Given the description of an element on the screen output the (x, y) to click on. 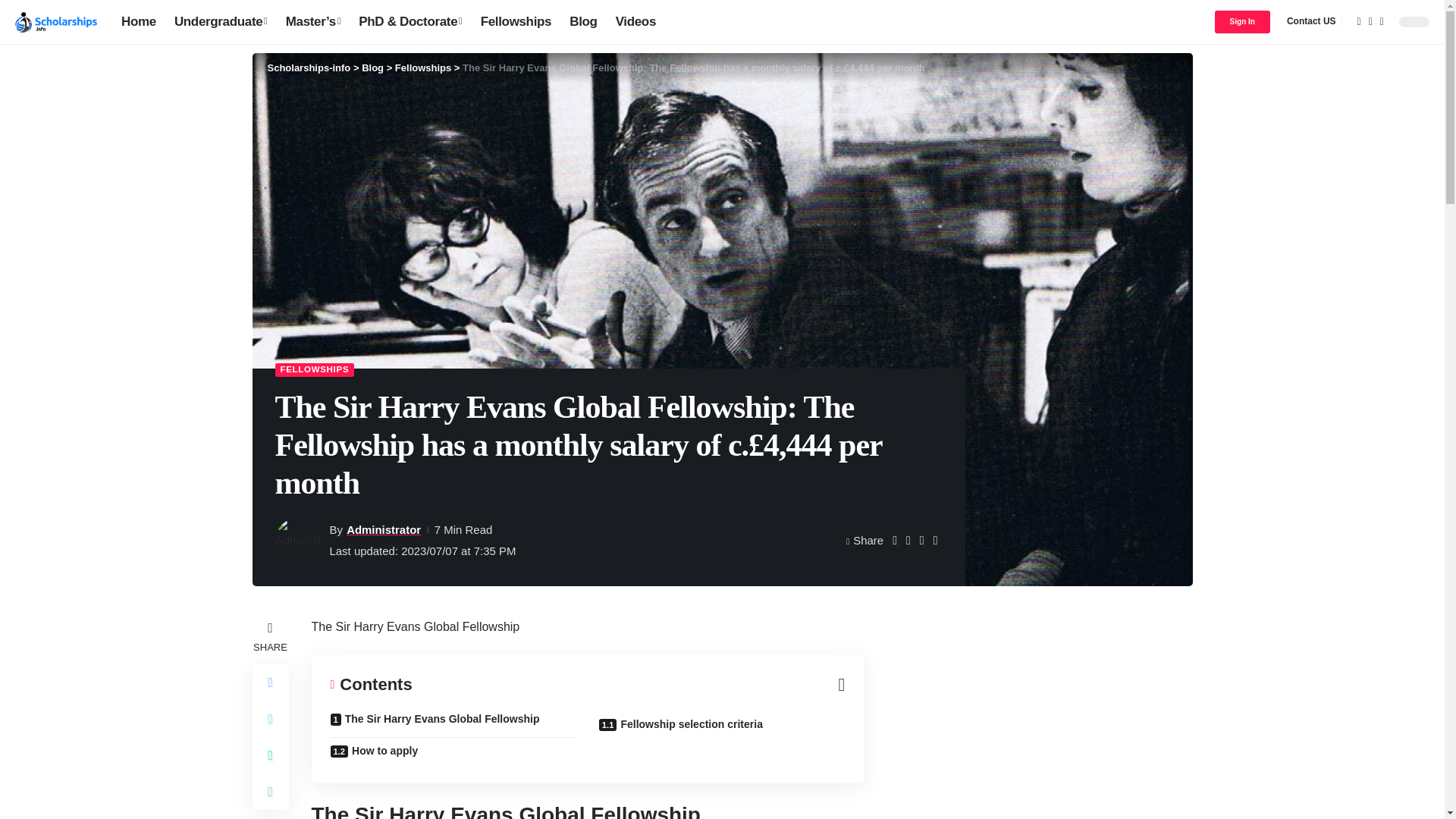
Go to Blog. (372, 67)
Sign In (1241, 21)
Fellowships (515, 22)
Undergraduate (220, 22)
Contact US (1310, 21)
Videos (636, 22)
Go to the Fellowships Category archives. (422, 67)
Home (138, 22)
Go to Scholarships-info. (308, 67)
Blog (582, 22)
